Given the description of an element on the screen output the (x, y) to click on. 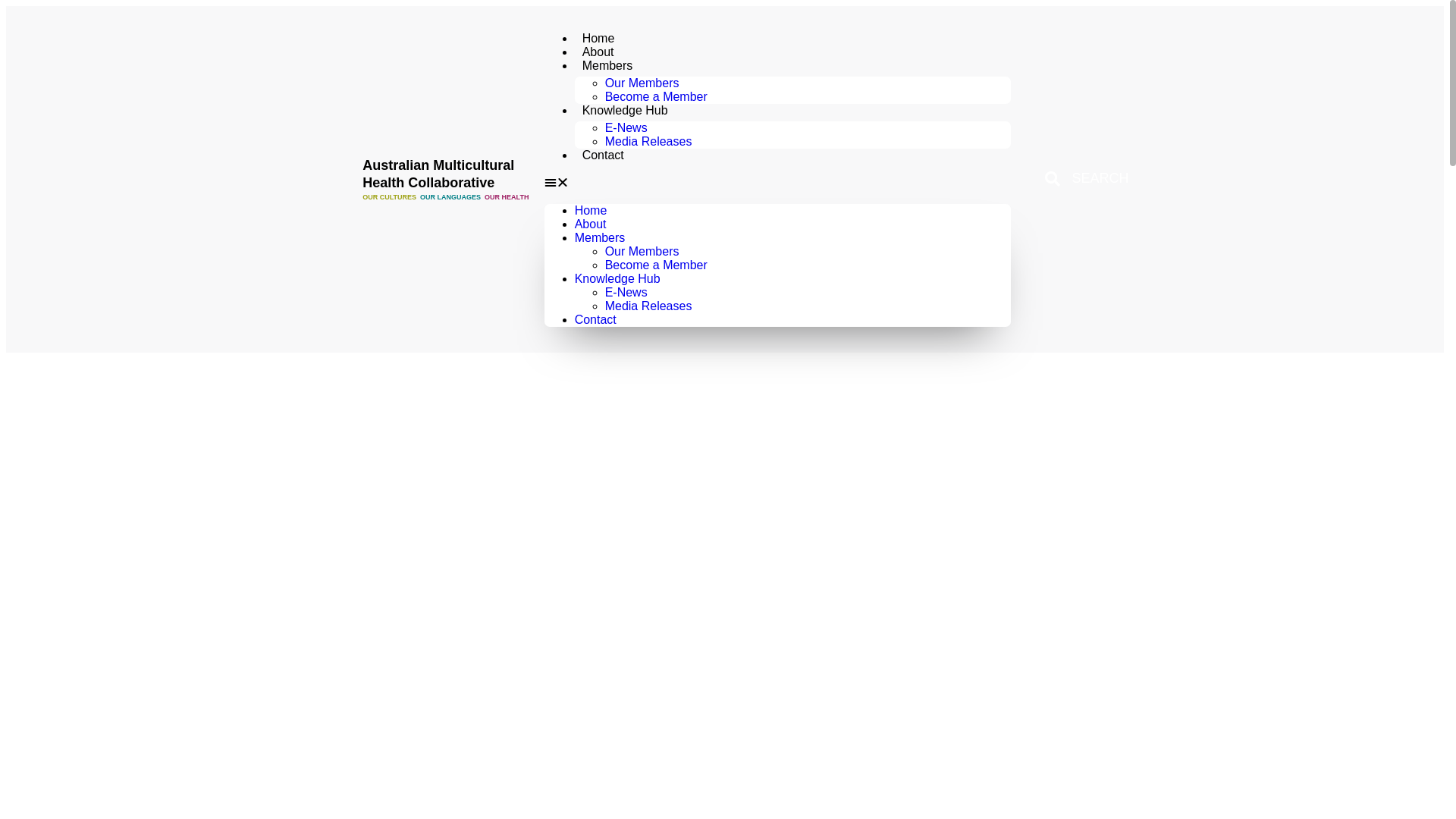
Contact Element type: text (595, 319)
E-News Element type: text (626, 127)
Members Element type: text (607, 65)
SEARCH Element type: text (1086, 178)
Become a Member Element type: text (656, 96)
Home Element type: text (598, 37)
Australian Multicultural Health Collaborative Element type: text (438, 173)
Open toolbar Element type: text (32, 134)
E-News Element type: text (626, 291)
Knowledge Hub Element type: text (624, 109)
About Element type: text (590, 223)
Our Members Element type: text (642, 82)
Home Element type: text (590, 209)
Knowledge Hub Element type: text (617, 278)
Media Releases Element type: text (648, 305)
Media Releases Element type: text (648, 140)
Members Element type: text (599, 237)
Become a Member Element type: text (656, 264)
Our Members Element type: text (642, 250)
About Element type: text (597, 51)
Contact Element type: text (602, 154)
